Given the description of an element on the screen output the (x, y) to click on. 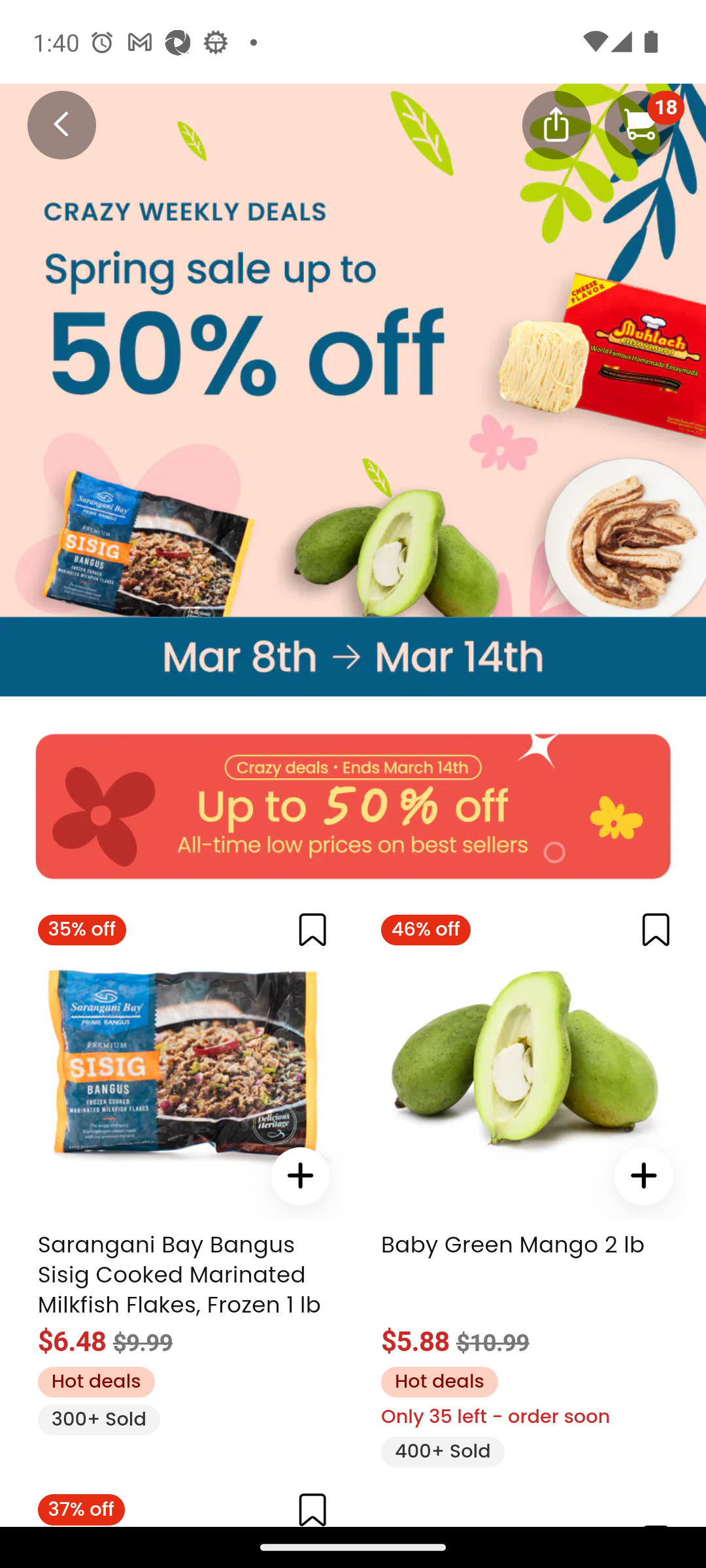
248A31151E05D745.png!c984x0_q80_t1 (353, 349)
Weee! - Groceries Delivered (50, 123)
18 My cart (638, 124)
 (555, 123)
262B9FB04AC2FEDE.png!c984x0_q80_t1 (353, 655)
64F68B2CE6C2A219.png!c984x0_q80_t1 (353, 787)
 (311, 929)
 (656, 929)
 (300, 1175)
 (300, 1175)
 (300, 1175)
 (300, 1175)
 (643, 1175)
 (643, 1175)
 (643, 1175)
 (643, 1175)
Hot deals (95, 1381)
Hot deals (439, 1381)
 (311, 1508)
